Given the description of an element on the screen output the (x, y) to click on. 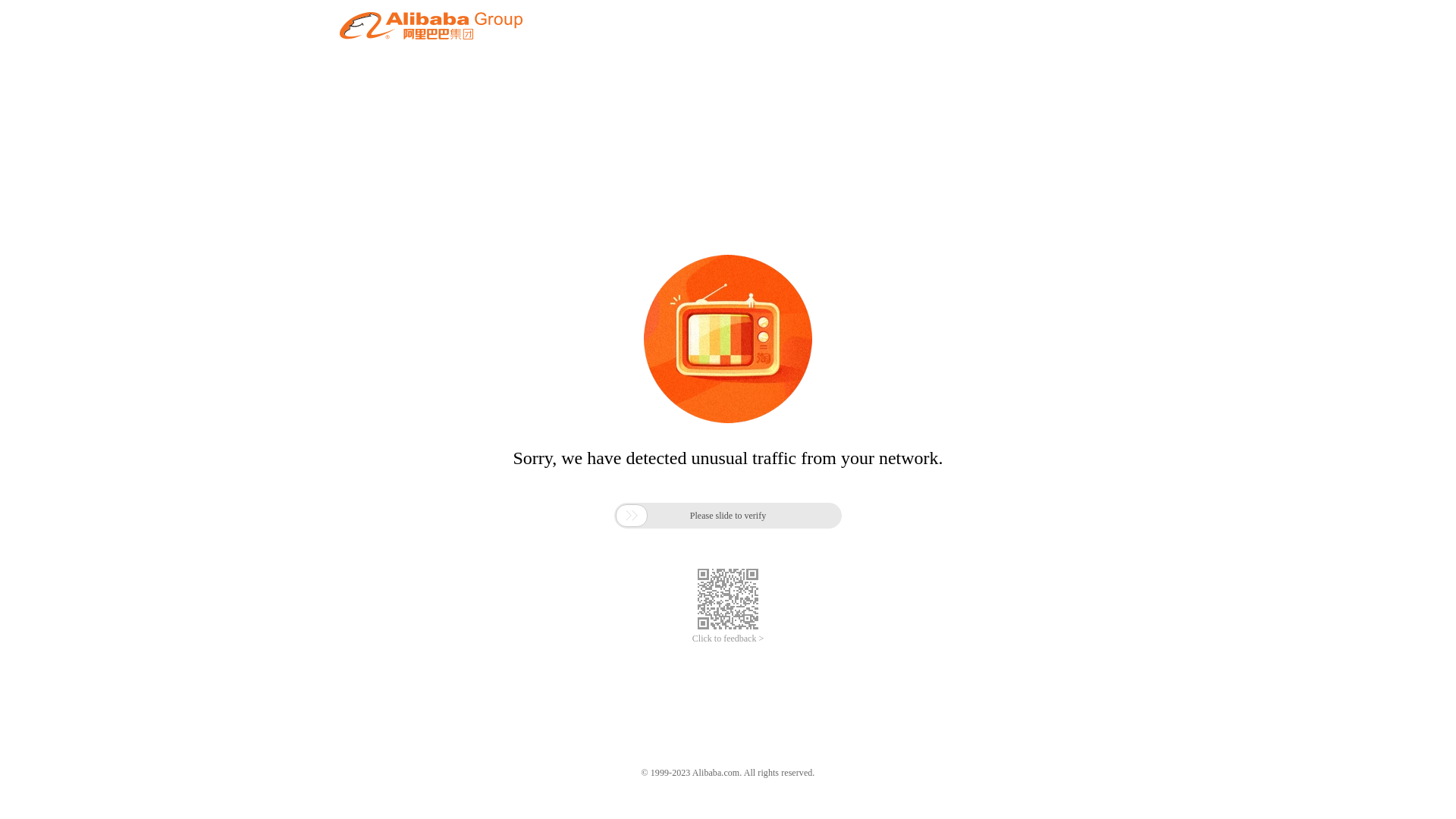
Click to feedback > Element type: text (727, 638)
